Given the description of an element on the screen output the (x, y) to click on. 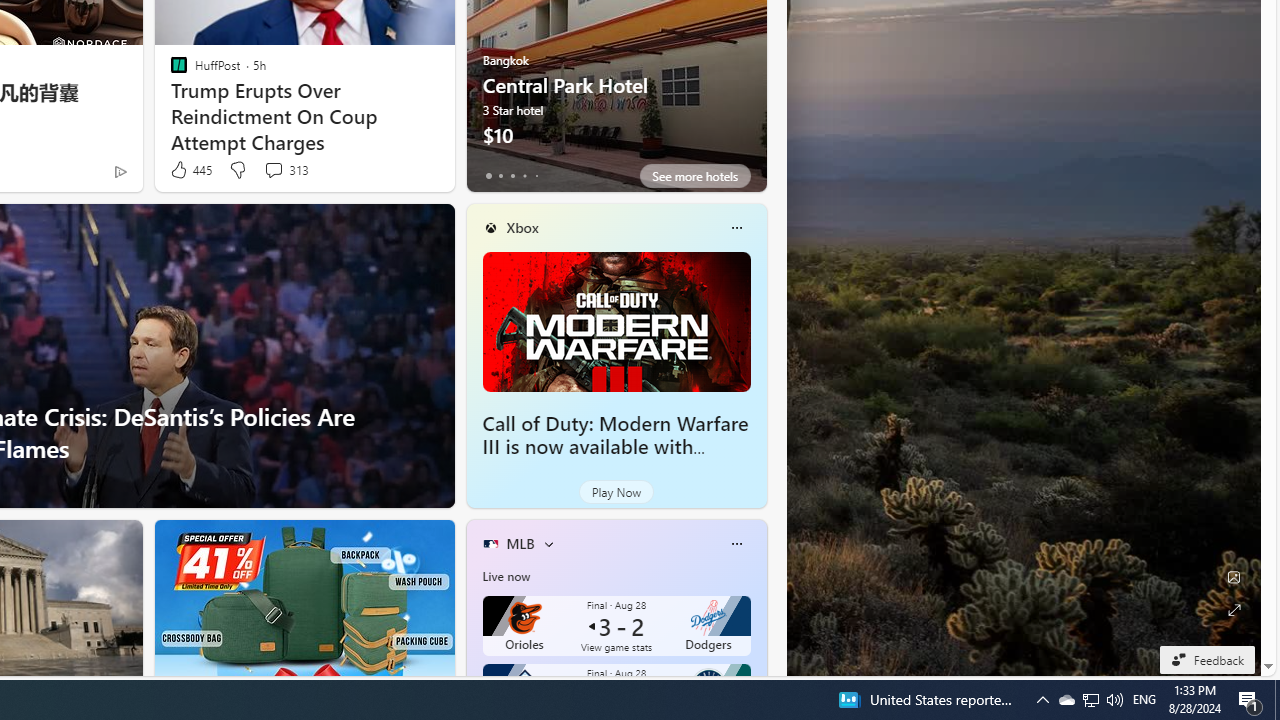
tab-0 (488, 175)
tab-2 (511, 175)
Play Now (616, 491)
Feedback (1206, 659)
Expand background (1233, 610)
View comments 313 Comment (285, 170)
445 Like (190, 170)
Xbox (521, 227)
